Given the description of an element on the screen output the (x, y) to click on. 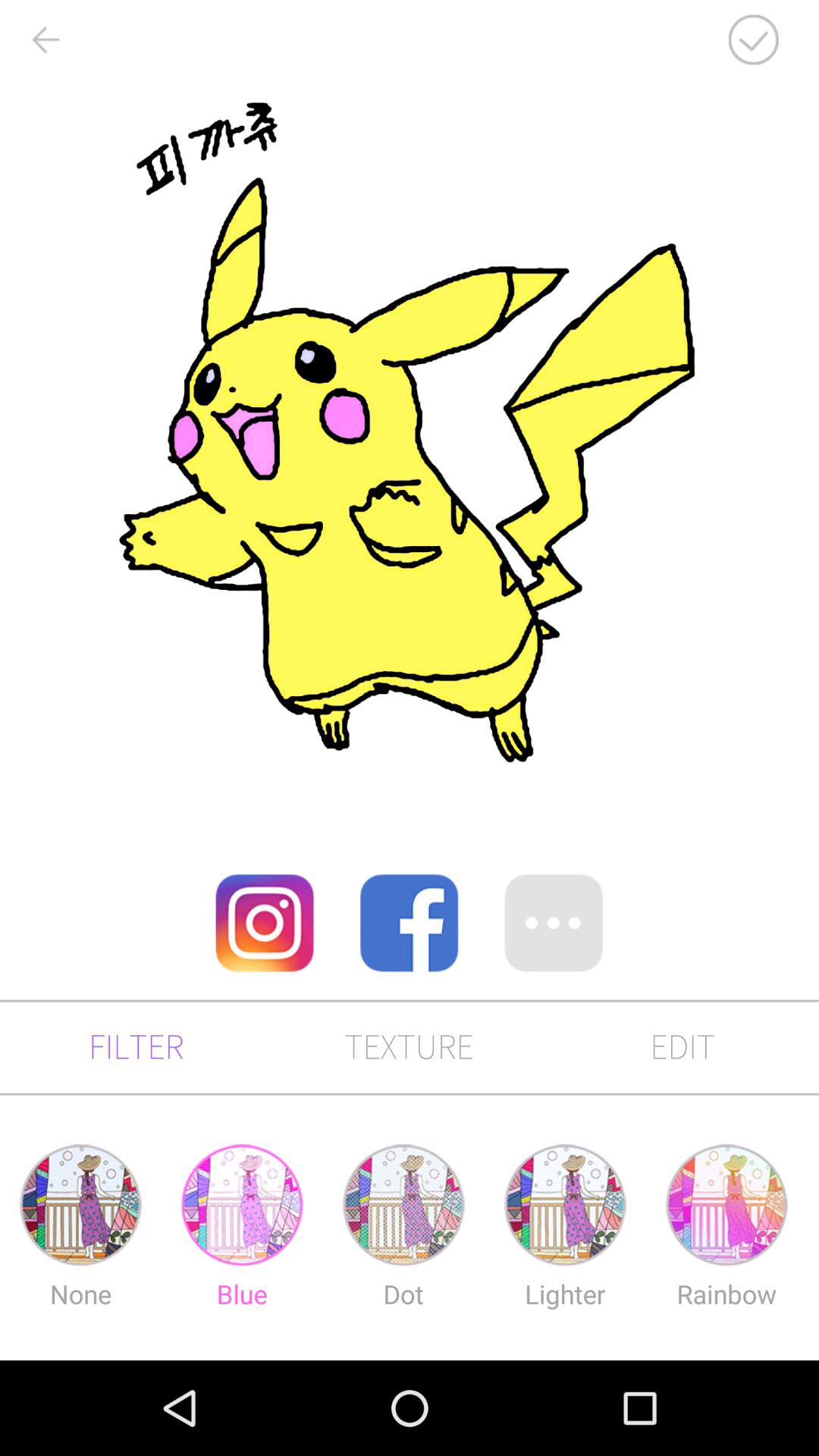
more options (553, 922)
